Given the description of an element on the screen output the (x, y) to click on. 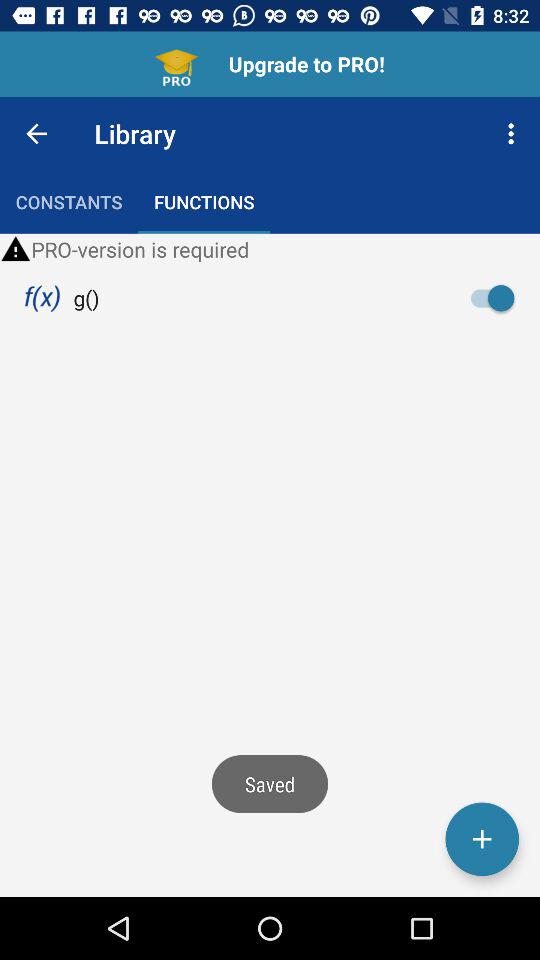
turn off item next to the g() item (498, 297)
